Given the description of an element on the screen output the (x, y) to click on. 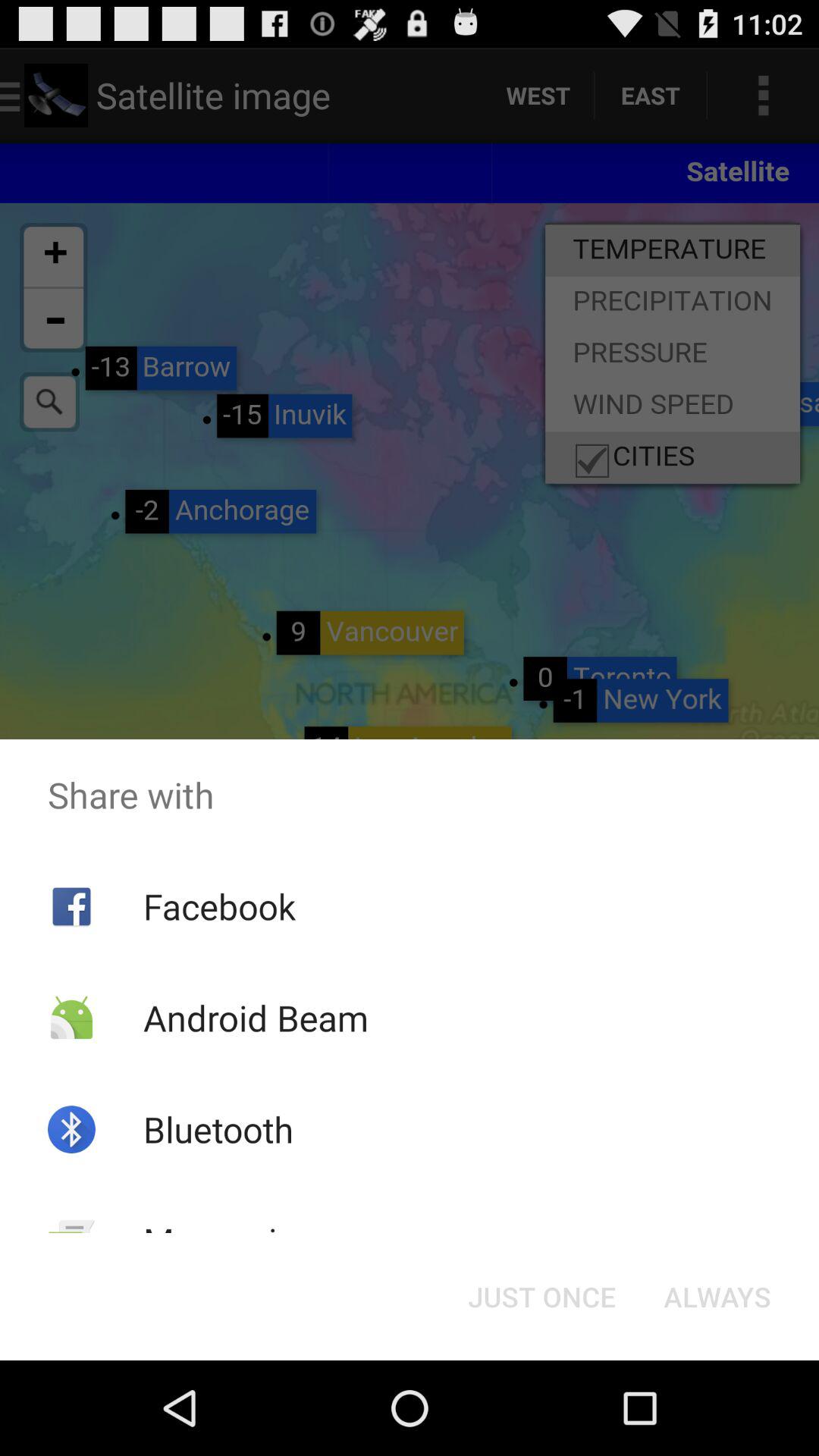
open facebook item (219, 906)
